Given the description of an element on the screen output the (x, y) to click on. 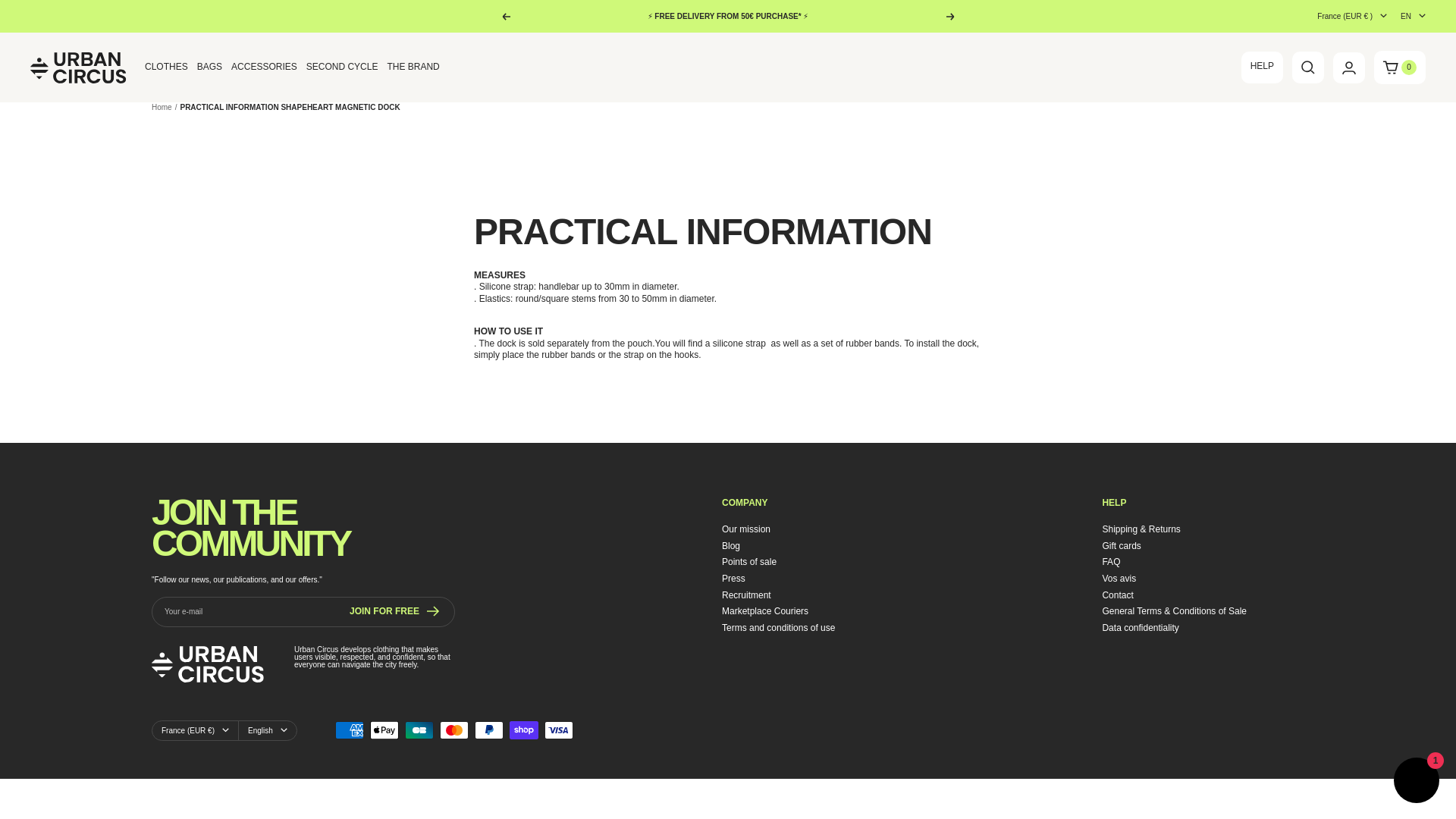
US (1331, 300)
BE (1331, 78)
SK (1331, 232)
IT (1331, 163)
fr (1404, 60)
LU (1331, 180)
Urban Circus (78, 66)
BAGS (209, 67)
DE (1331, 129)
en (1404, 78)
